Given the description of an element on the screen output the (x, y) to click on. 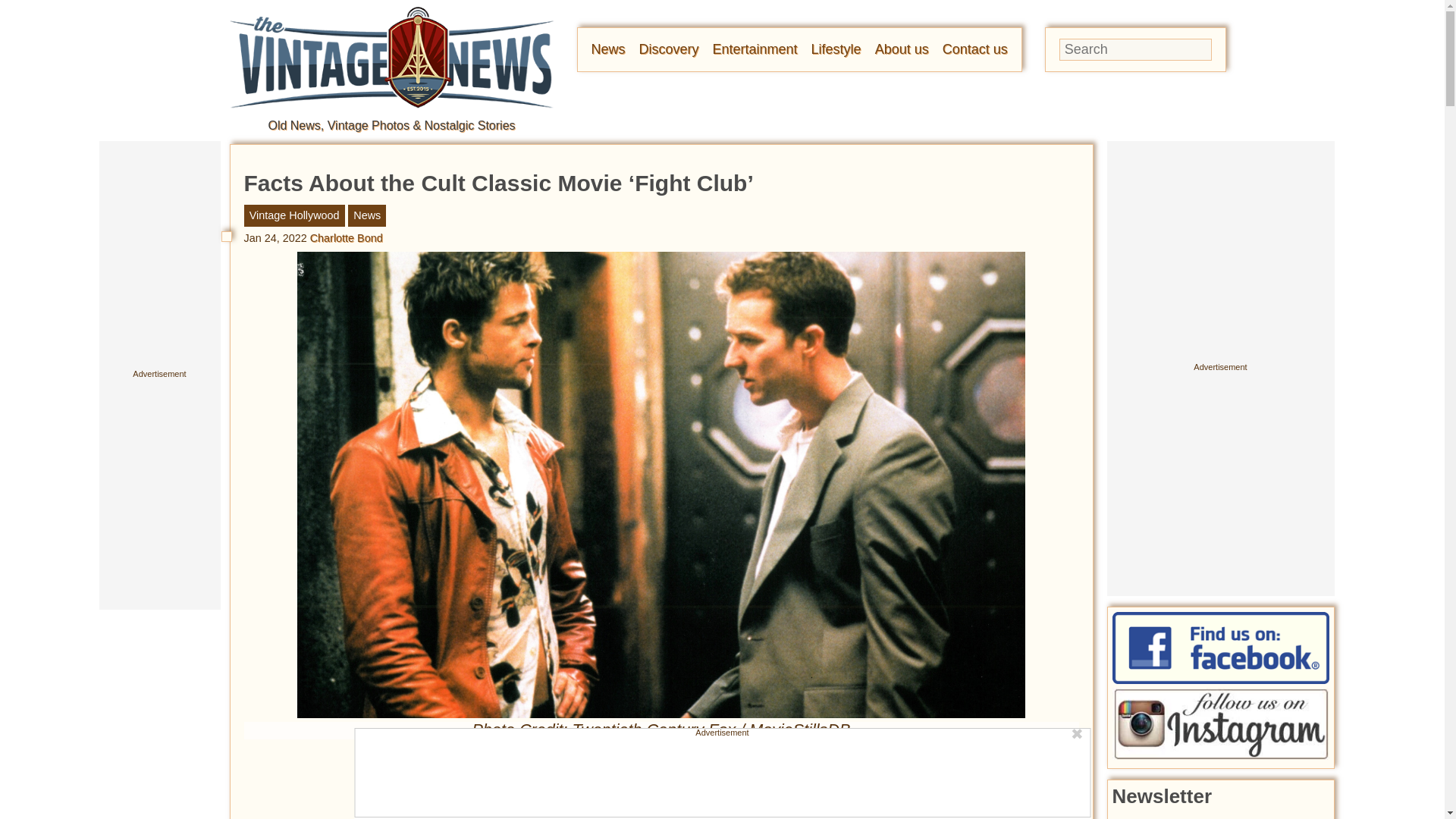
Discovery (668, 48)
Lifestyle (835, 48)
Contact us (974, 48)
Entertainment (755, 48)
News (608, 48)
About us (901, 48)
